Given the description of an element on the screen output the (x, y) to click on. 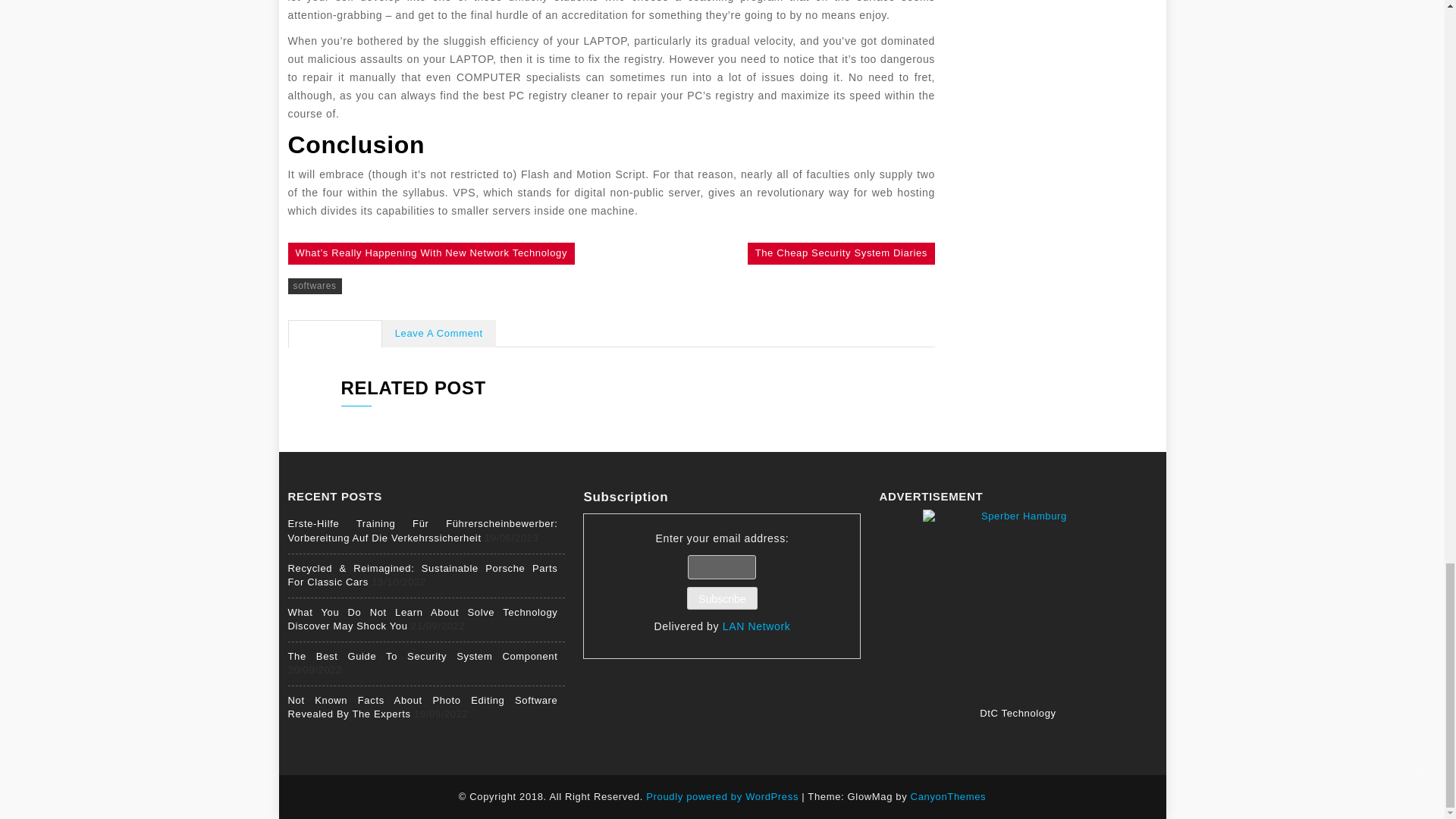
The Cheap Security System Diaries (841, 253)
Sperber Hamburg (1017, 604)
No Comments (334, 334)
Subscribe (722, 598)
Leave A Comment (438, 334)
softwares (315, 286)
